Given the description of an element on the screen output the (x, y) to click on. 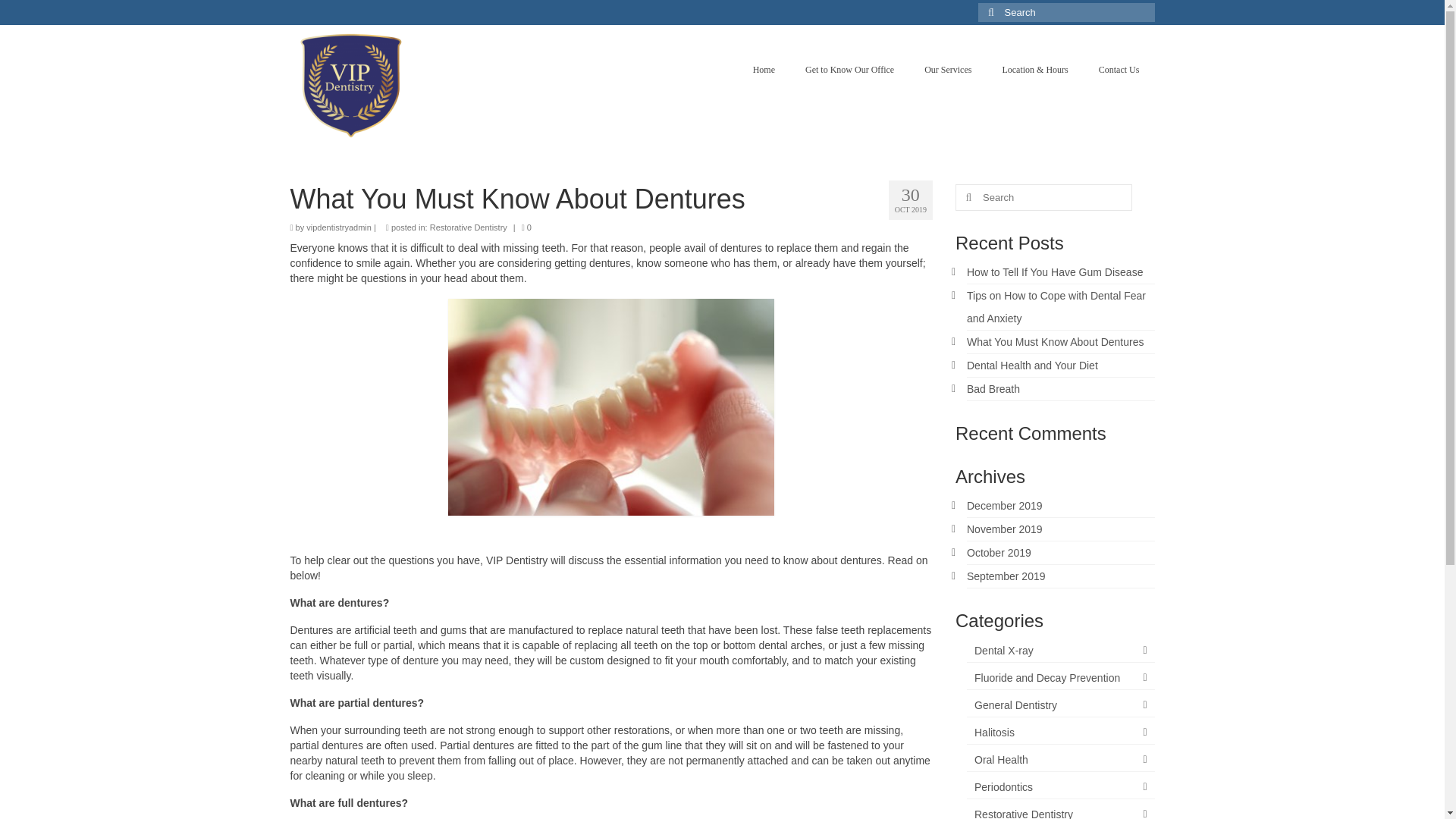
Home (764, 69)
Dental X-ray (1060, 650)
Contact Us (1118, 69)
Halitosis (1060, 732)
November 2019 (1004, 529)
Periodontics (1060, 787)
How to Tell If You Have Gum Disease (1054, 272)
September 2019 (1005, 576)
Dental Health and Your Diet (1031, 365)
Bad Breath (993, 388)
